Given the description of an element on the screen output the (x, y) to click on. 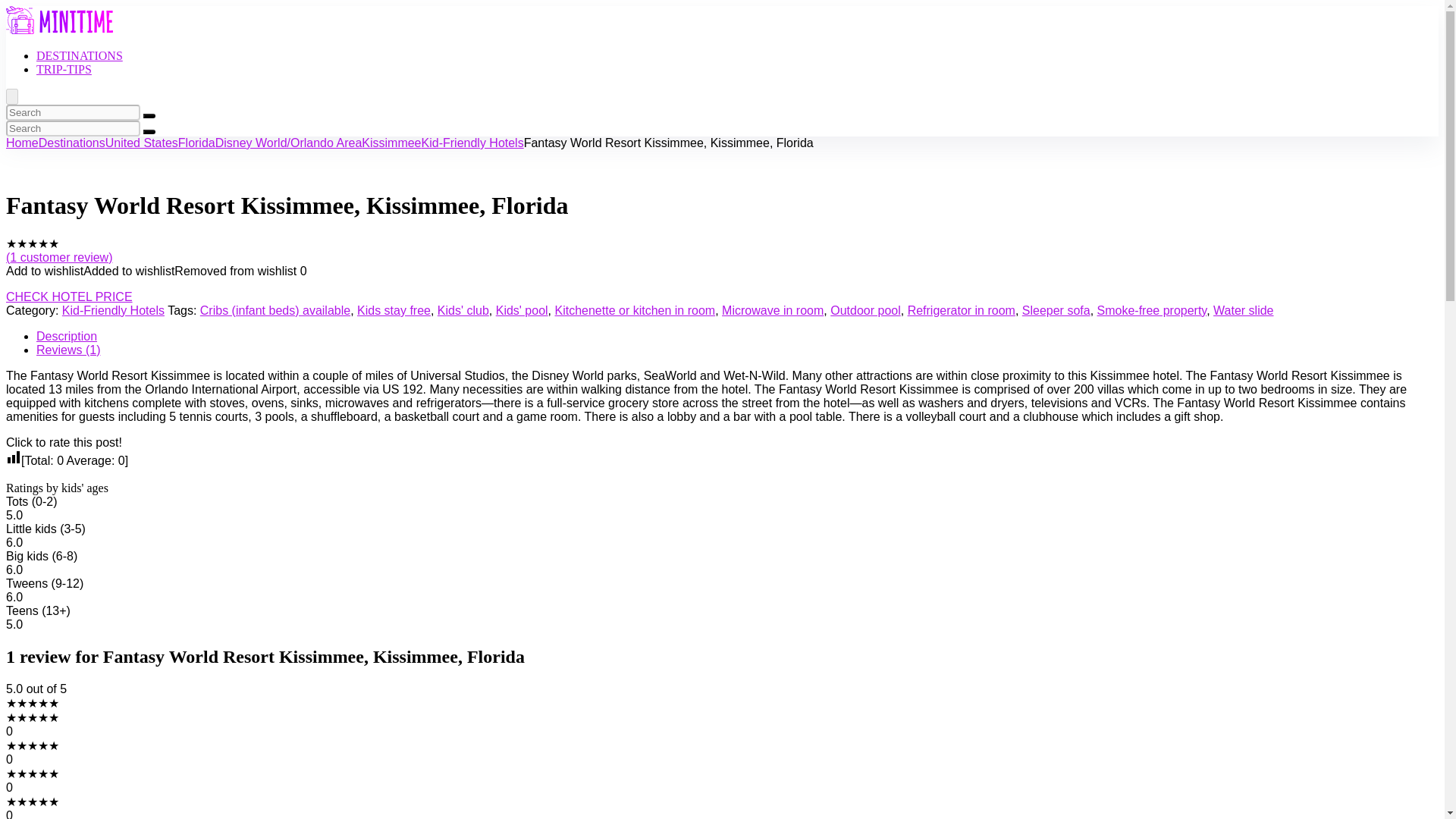
Kissimmee (390, 142)
Description (66, 336)
Kids' pool (522, 309)
Microwave in room (773, 309)
United States (140, 142)
Home (22, 142)
Kid-Friendly Hotels (473, 142)
Sleeper sofa (1056, 309)
Destinations (71, 142)
CHECK HOTEL PRICE (68, 296)
Kids stay free (393, 309)
Kitchenette or kitchen in room (635, 309)
Water slide (1242, 309)
Florida (196, 142)
Refrigerator in room (960, 309)
